Given the description of an element on the screen output the (x, y) to click on. 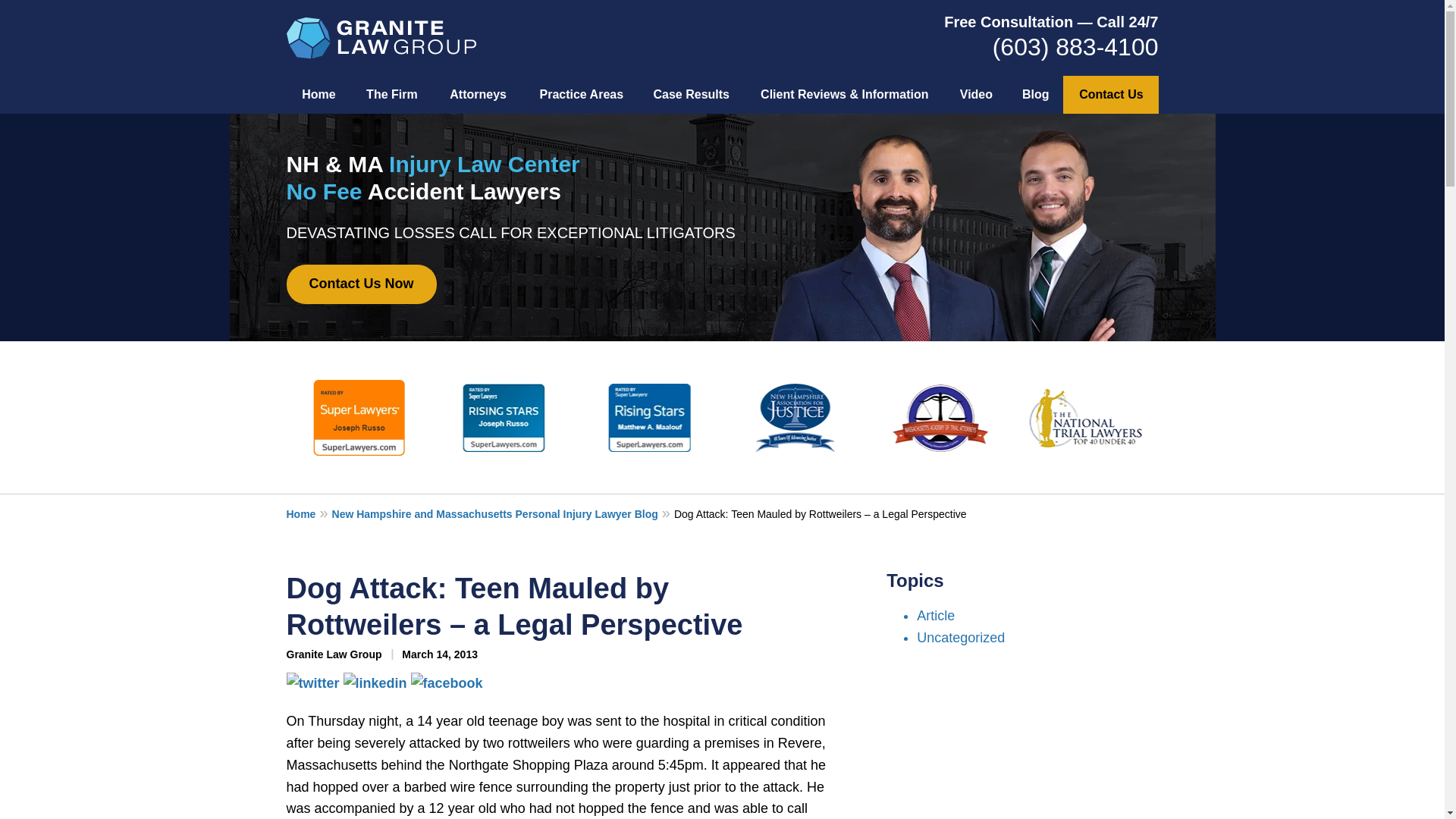
The Firm (391, 94)
Attorneys (478, 94)
Home (319, 94)
